Given the description of an element on the screen output the (x, y) to click on. 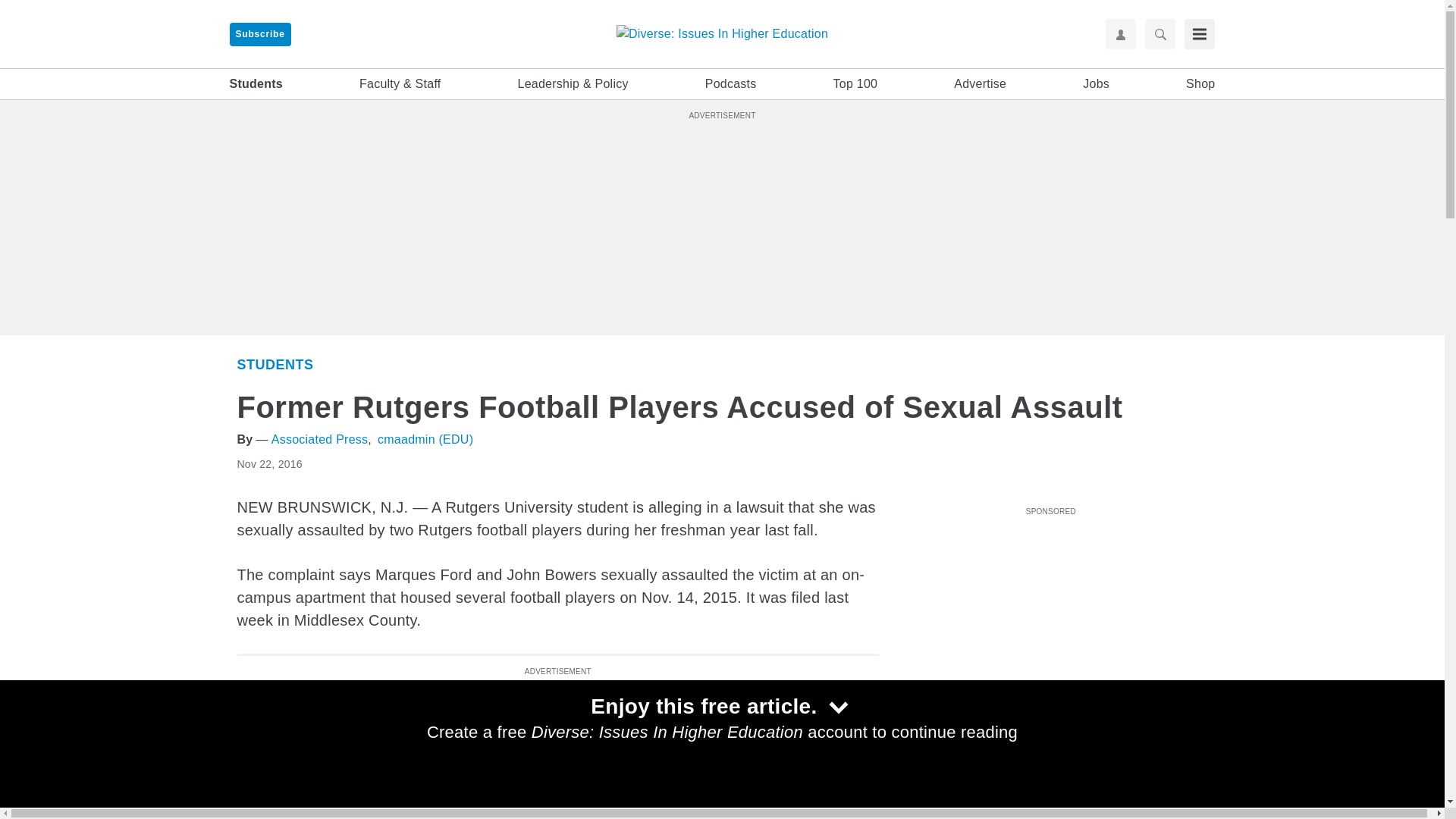
Subscribe (258, 33)
Top 100 (854, 84)
Students (274, 364)
Advertise (979, 84)
Students (255, 84)
Youtube Player (1050, 606)
Subscribe (258, 33)
Students (923, 777)
Jobs (1096, 84)
Shop (1200, 84)
